Given the description of an element on the screen output the (x, y) to click on. 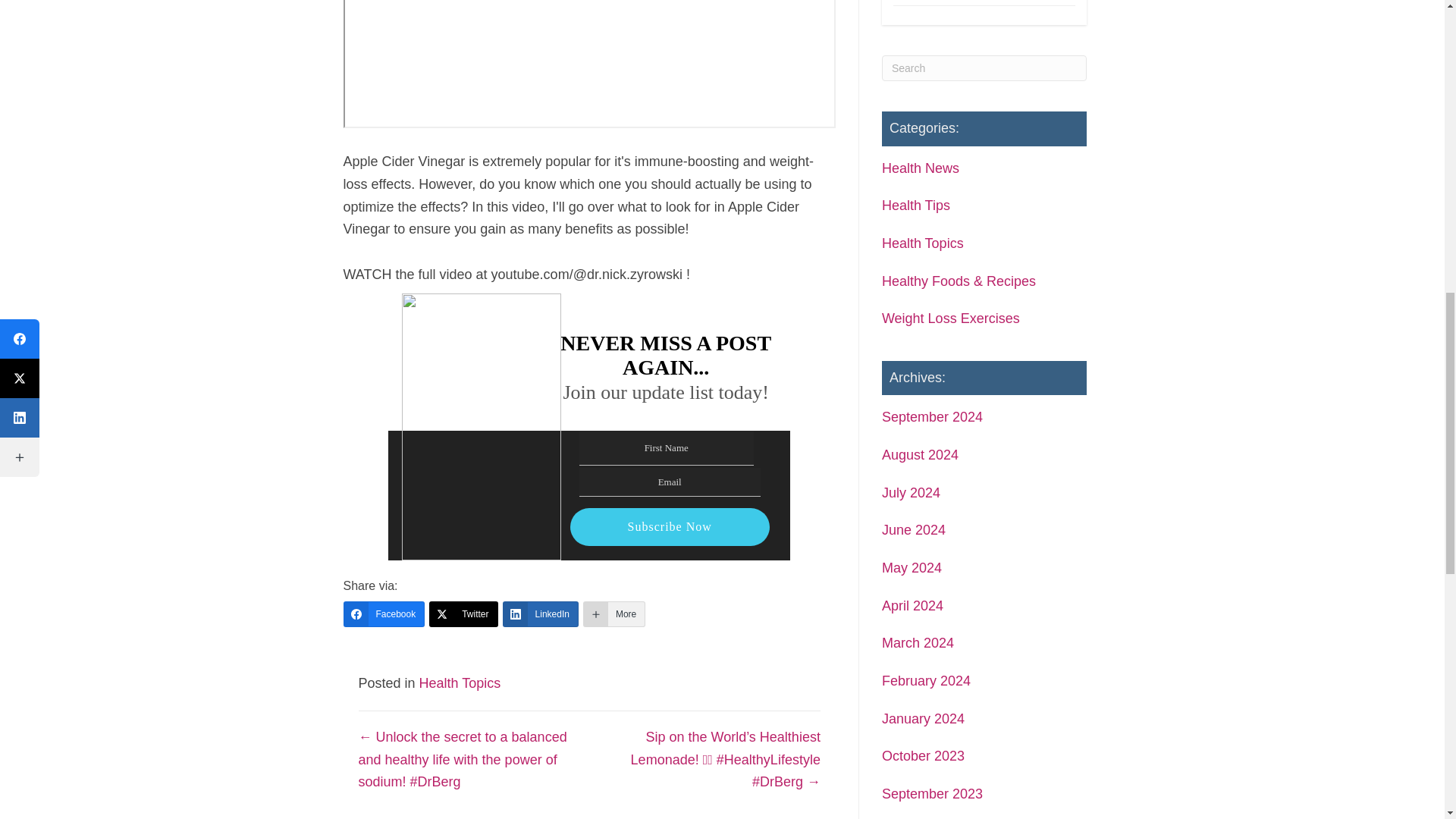
Health News (920, 168)
Health Topics (459, 683)
Twitter (463, 614)
More (614, 614)
Facebook (383, 614)
Type and press Enter to search. (984, 68)
LinkedIn (540, 614)
Health Tips (916, 205)
Subscribe Now (670, 526)
